Given the description of an element on the screen output the (x, y) to click on. 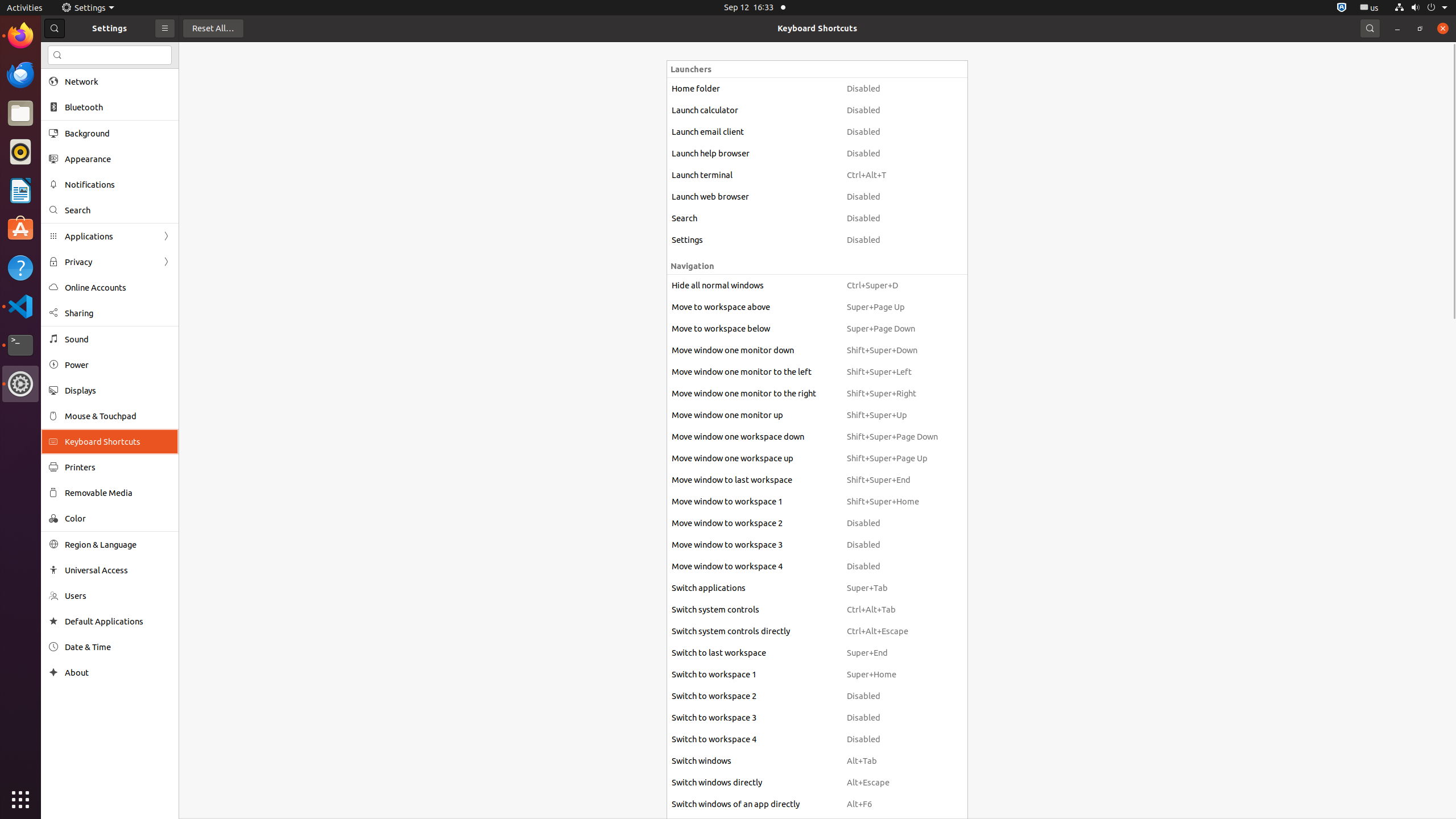
Move window one workspace down Element type: label (753, 436)
Forward Element type: icon (165, 261)
Super+Tab Element type: label (891, 587)
Color Element type: label (117, 518)
luyi1 Element type: label (75, 50)
